Given the description of an element on the screen output the (x, y) to click on. 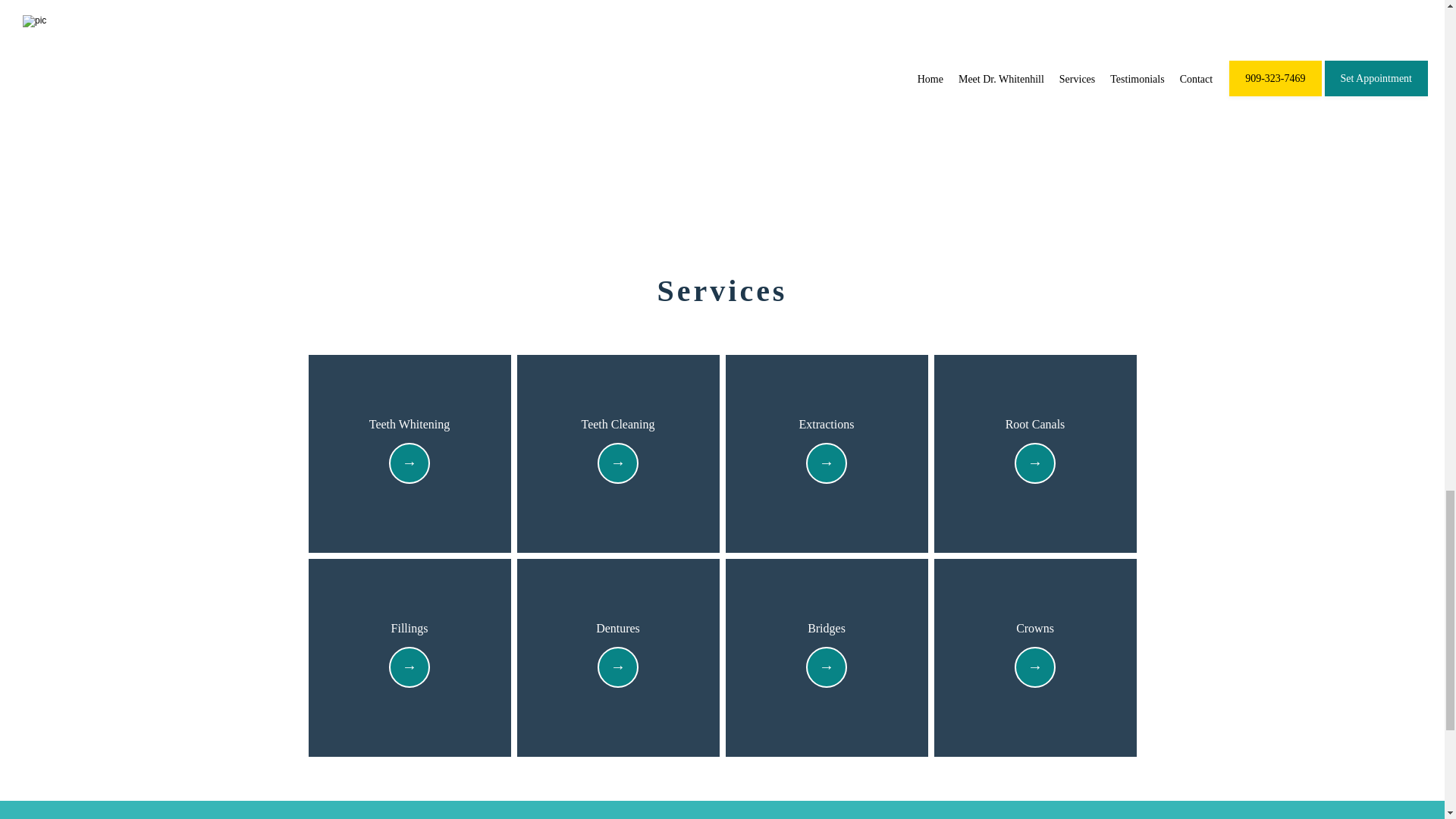
Read More (409, 668)
Fillings (409, 629)
Bridges (826, 629)
Read More (826, 464)
Dentures (617, 629)
Teeth Whitening (409, 425)
Root Canals (1035, 425)
Extractions (826, 425)
Read More (409, 464)
Read More (618, 464)
Read More (618, 668)
Read More (1034, 464)
Read More (1034, 668)
Read More (826, 668)
Crowns (1035, 629)
